Given the description of an element on the screen output the (x, y) to click on. 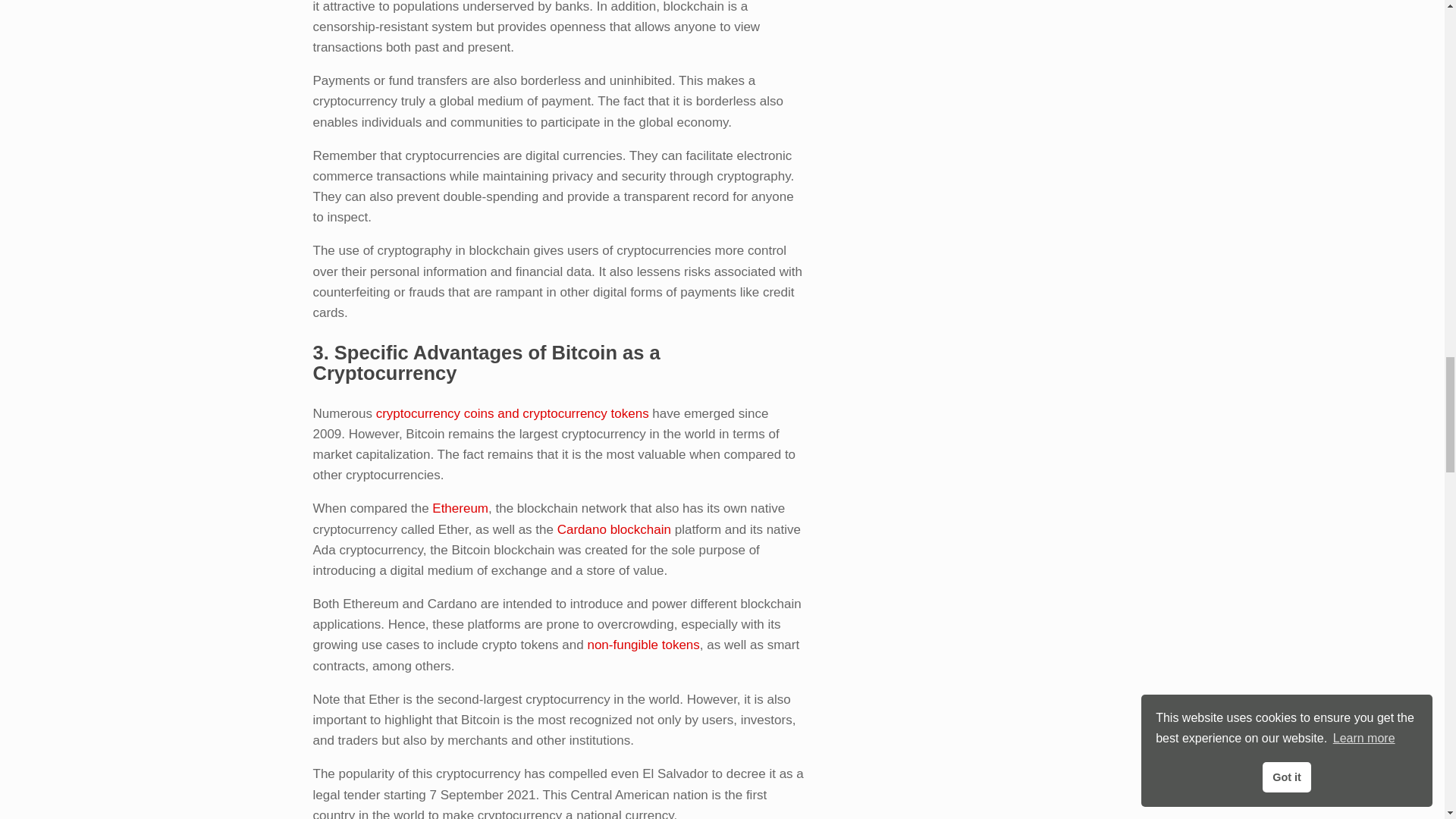
Ethereum (459, 508)
cryptocurrency coins and cryptocurrency tokens (512, 413)
Cardano blockchain (614, 528)
non-fungible tokens (642, 644)
